Given the description of an element on the screen output the (x, y) to click on. 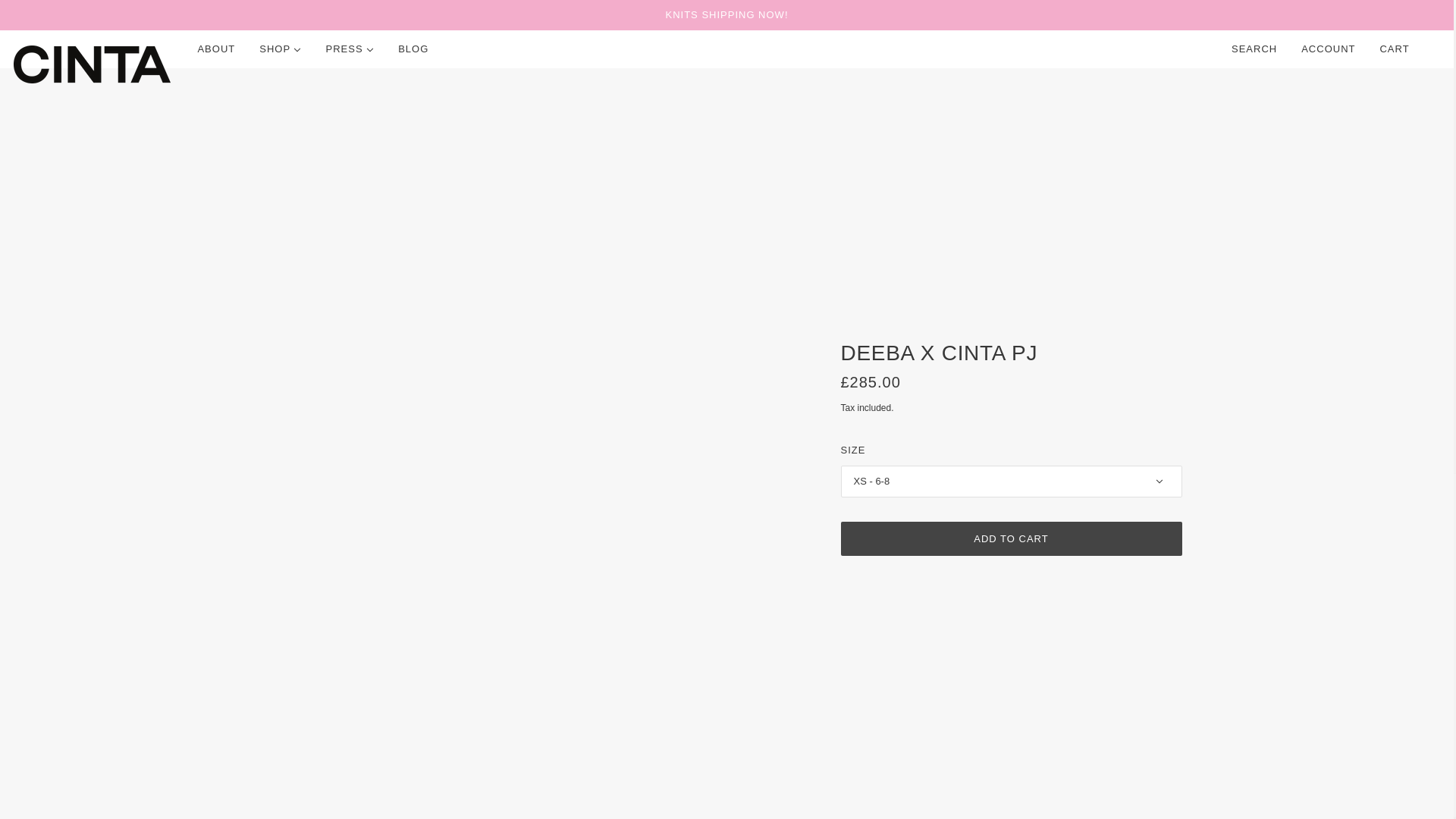
SHOP  (280, 48)
CintaTheLabelLondon (91, 64)
ABOUT (215, 48)
